Given the description of an element on the screen output the (x, y) to click on. 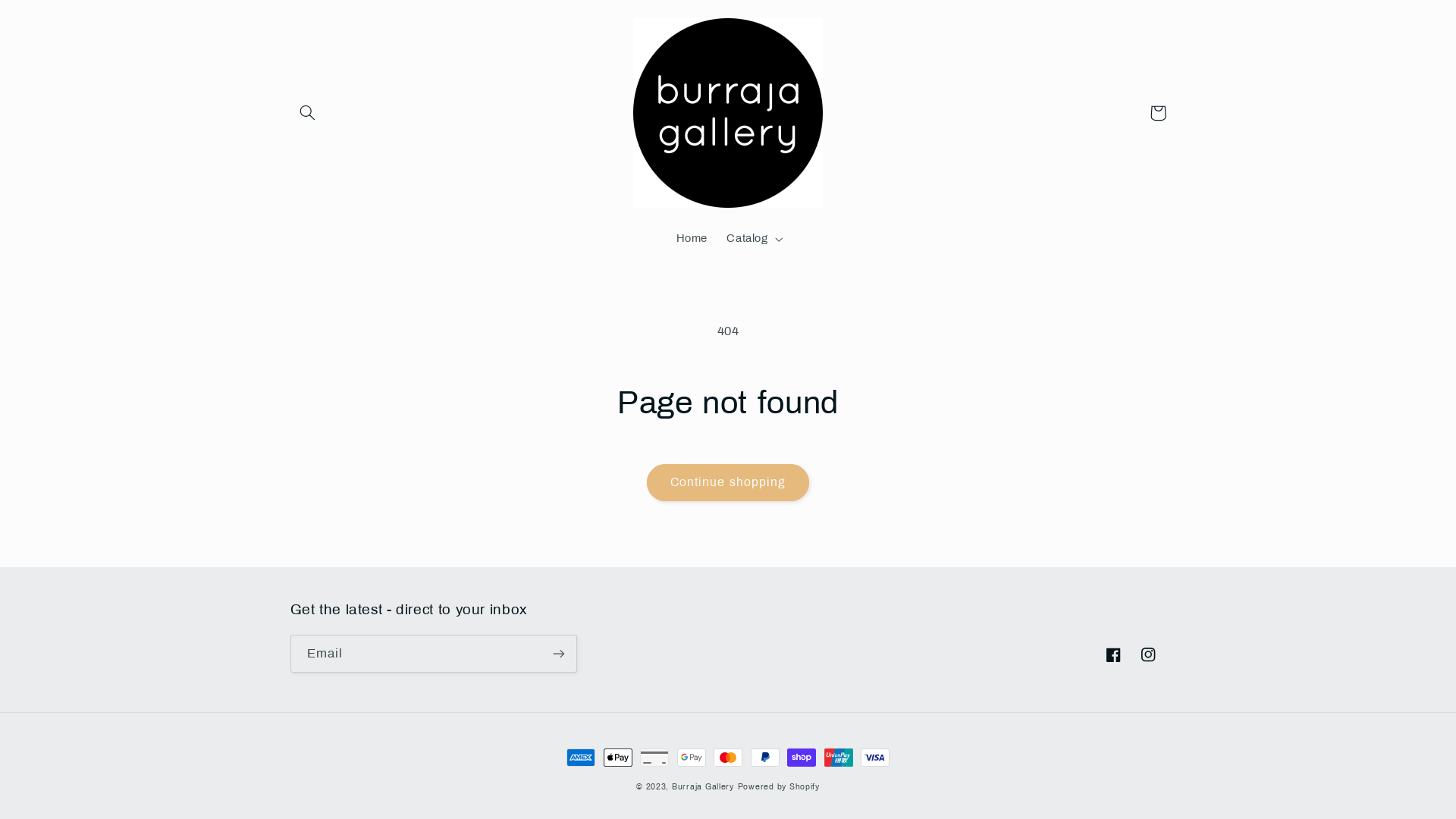
Powered by Shopify Element type: text (778, 786)
Instagram Element type: text (1147, 654)
Home Element type: text (691, 238)
Burraja Gallery Element type: text (702, 786)
Continue shopping Element type: text (727, 482)
Facebook Element type: text (1112, 654)
Cart Element type: text (1157, 112)
